Given the description of an element on the screen output the (x, y) to click on. 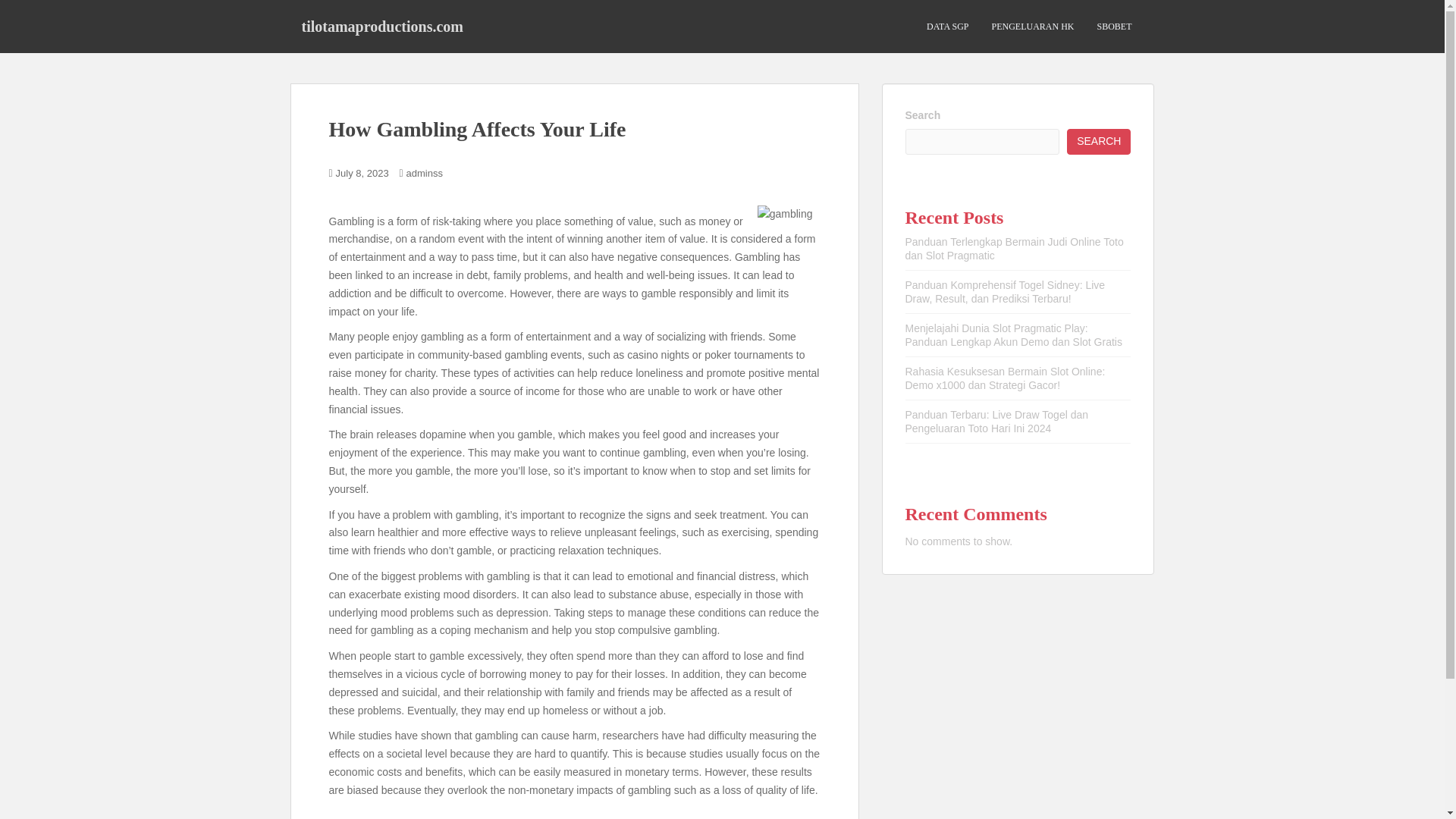
DATA SGP (947, 26)
adminss (424, 173)
July 8, 2023 (362, 173)
tilotamaproductions.com (381, 26)
tilotamaproductions.com (381, 26)
PENGELUARAN HK (1032, 26)
SBOBET (1113, 26)
SEARCH (1099, 141)
